Given the description of an element on the screen output the (x, y) to click on. 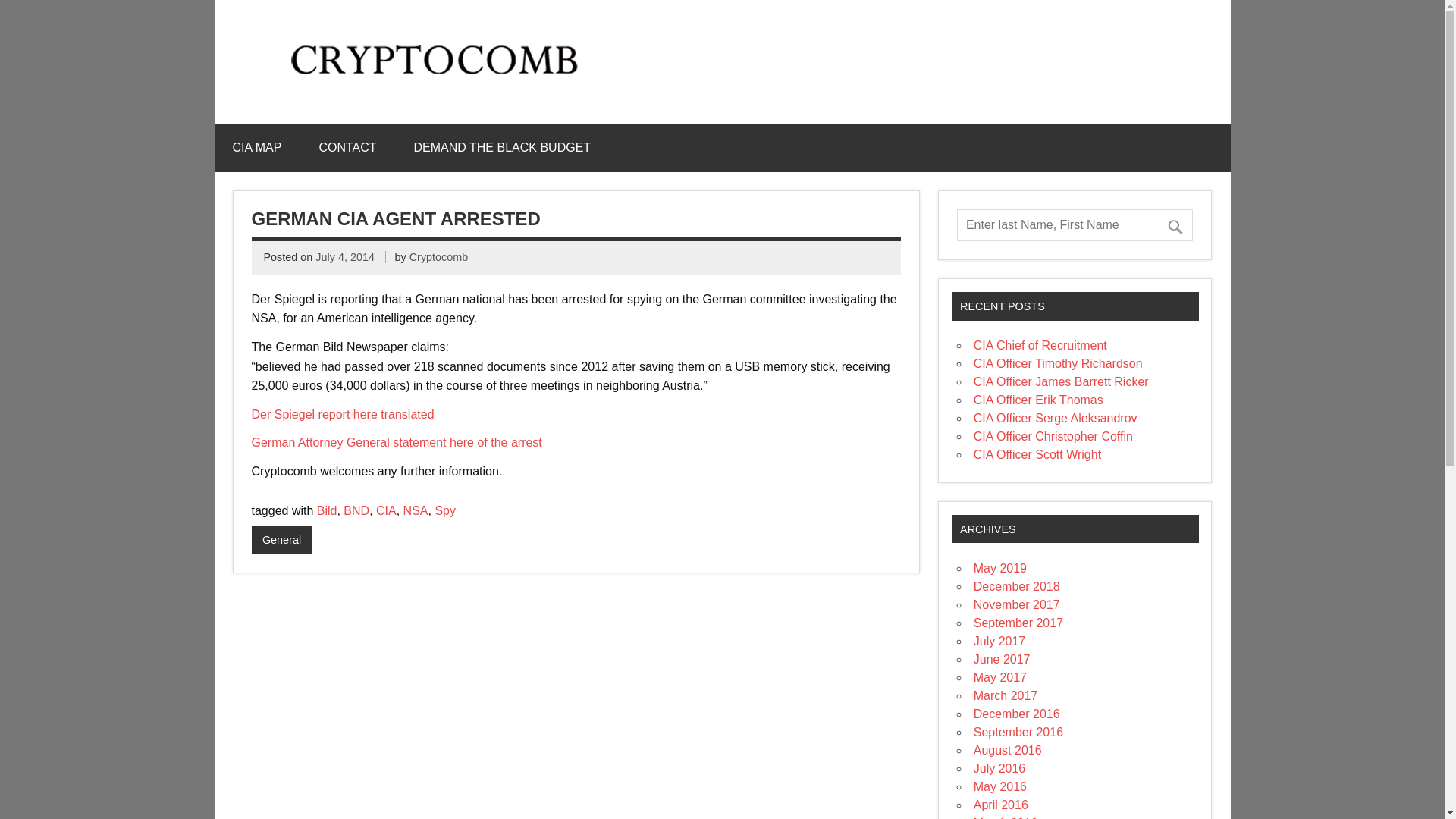
July 4, 2014 (344, 256)
Cryptocomb (438, 256)
DEMAND THE BLACK BUDGET (503, 147)
CIA MAP (256, 147)
View all posts by Cryptocomb (438, 256)
CONTACT (346, 147)
German Attorney General statement here of the arrest (396, 441)
Der Spiegel report here translated (342, 413)
Cryptocomb (439, 80)
3:14 pm (344, 256)
